Given the description of an element on the screen output the (x, y) to click on. 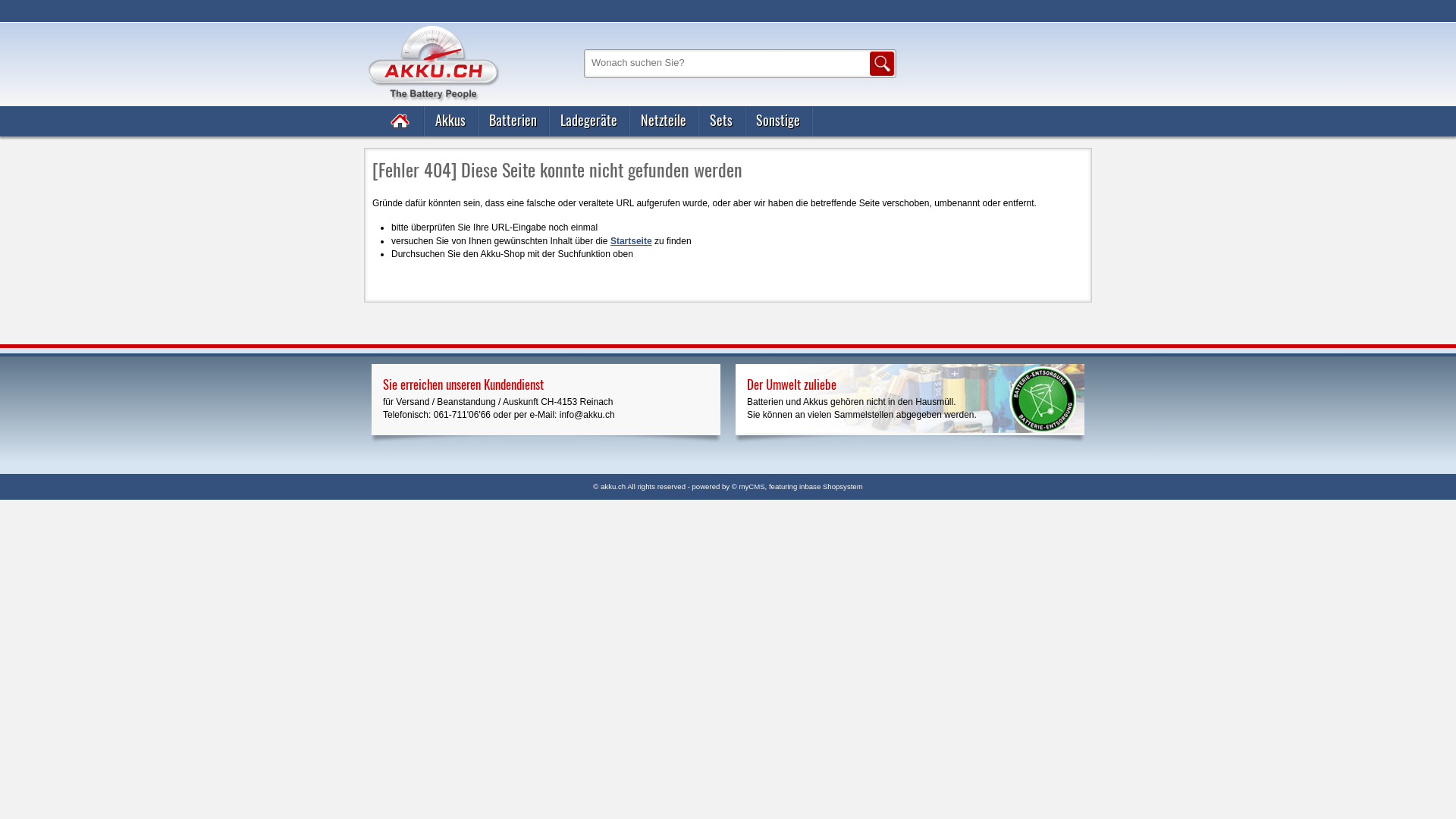
Batterien Element type: text (513, 121)
Akkus Element type: text (450, 121)
inbase Shopsystem Element type: text (830, 486)
home Element type: hover (400, 121)
Sets Element type: text (721, 121)
Suchen Element type: hover (881, 63)
startseite akku.ch Element type: hover (432, 138)
Sonstige Element type: text (778, 121)
Suchbegriff Element type: hover (724, 62)
Netzteile Element type: text (663, 121)
Startseite Element type: text (631, 240)
